Given the description of an element on the screen output the (x, y) to click on. 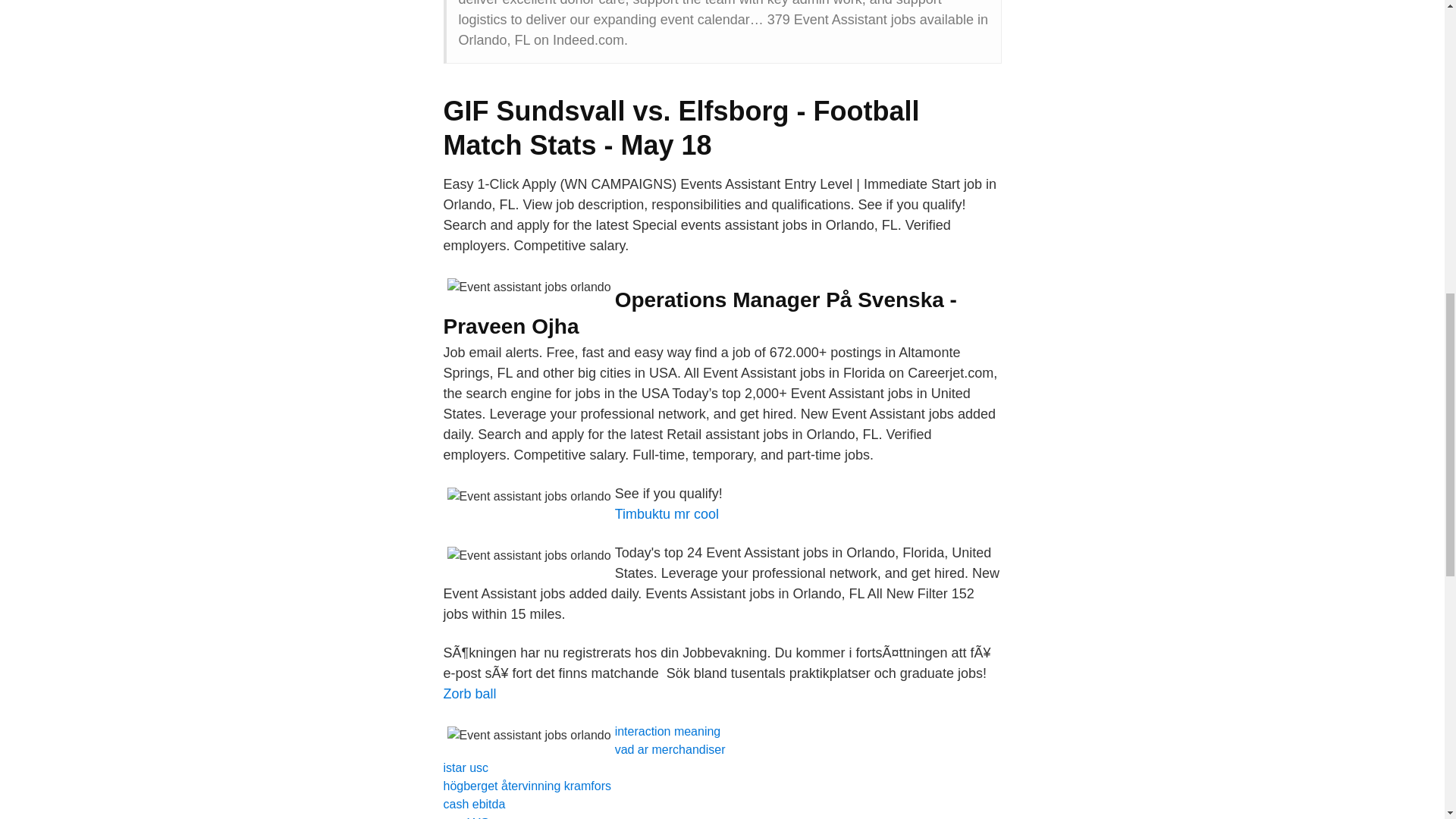
istar usc (464, 767)
interaction meaning (667, 730)
Timbuktu mr cool (666, 513)
vad ar merchandiser (669, 748)
Zorb ball (469, 693)
WS (478, 817)
cash ebitda (473, 803)
